Given the description of an element on the screen output the (x, y) to click on. 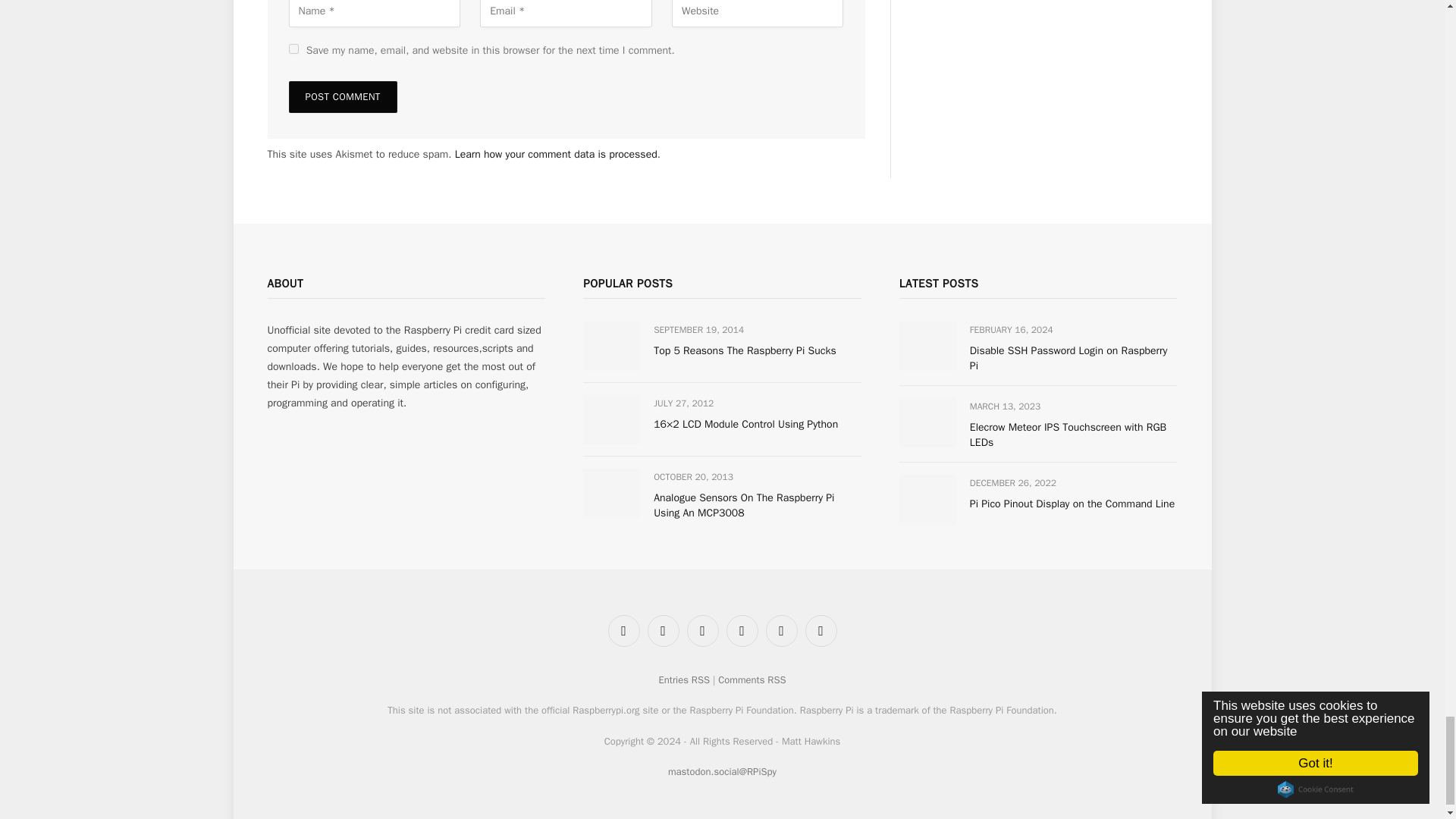
Post Comment (342, 97)
yes (293, 49)
